Given the description of an element on the screen output the (x, y) to click on. 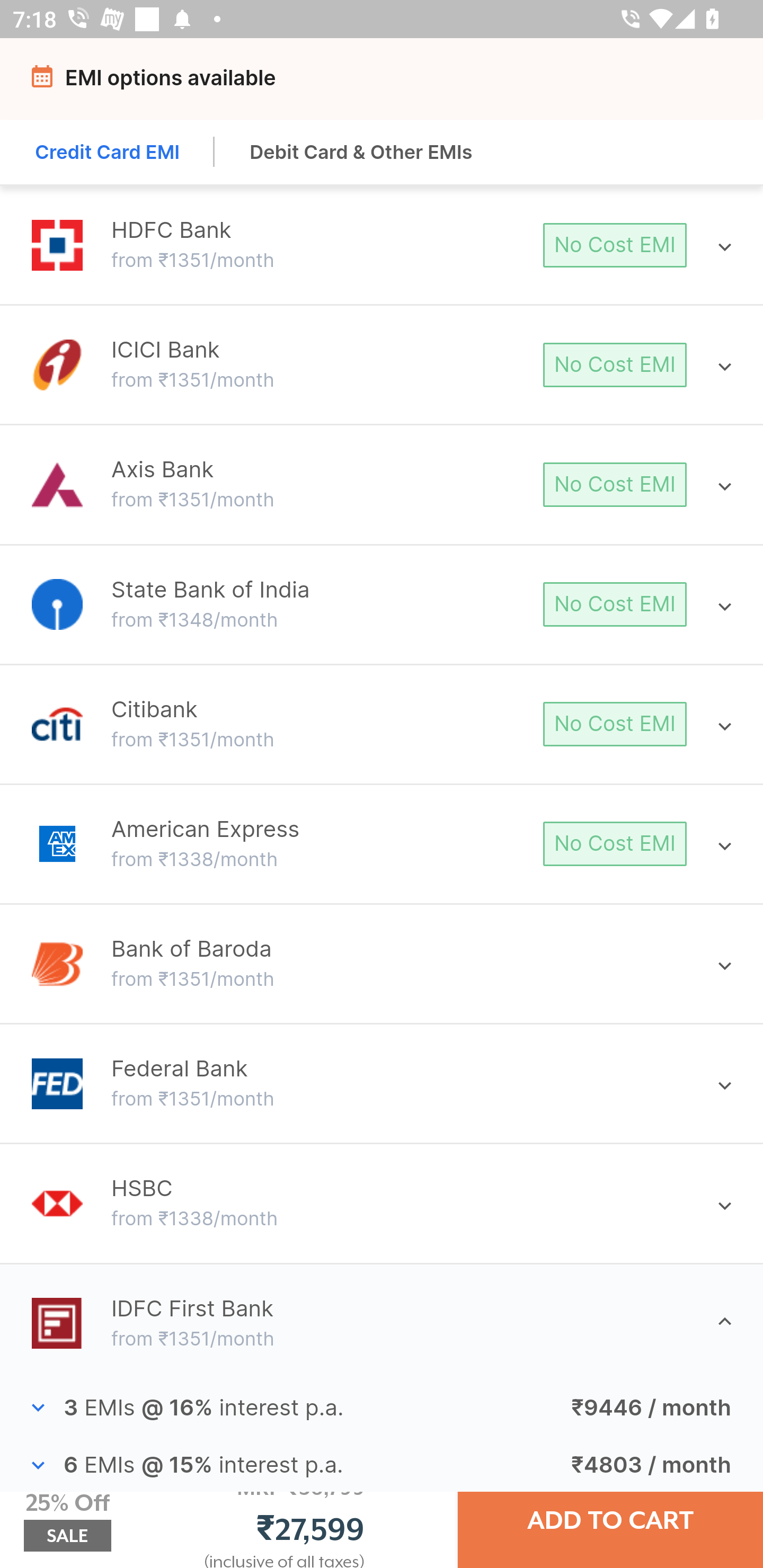
Navigate up (44, 82)
Credit Card EMI (107, 152)
Debit Card & Other EMIs (361, 152)
HDFC Bank HDFC Bank from ₹1351/month No Cost EMI (381, 244)
ICICI Bank ICICI Bank from ₹1351/month No Cost EMI (381, 364)
Axis Bank Axis Bank from ₹1351/month No Cost EMI (381, 484)
Citibank Citibank from ₹1351/month No Cost EMI (381, 723)
Bank of Baroda Bank of Baroda from ₹1351/month (381, 963)
Federal Bank Federal Bank from ₹1351/month (381, 1083)
HSBC HSBC from ₹1338/month (381, 1203)
IDFC First Bank IDFC First Bank from ₹1351/month (381, 1322)
3 EMIs @ 16% interest p.a. ₹9446 / month (381, 1407)
6 EMIs @ 15% interest p.a. ₹4803 / month (381, 1465)
ADD TO CART (610, 1520)
